Given the description of an element on the screen output the (x, y) to click on. 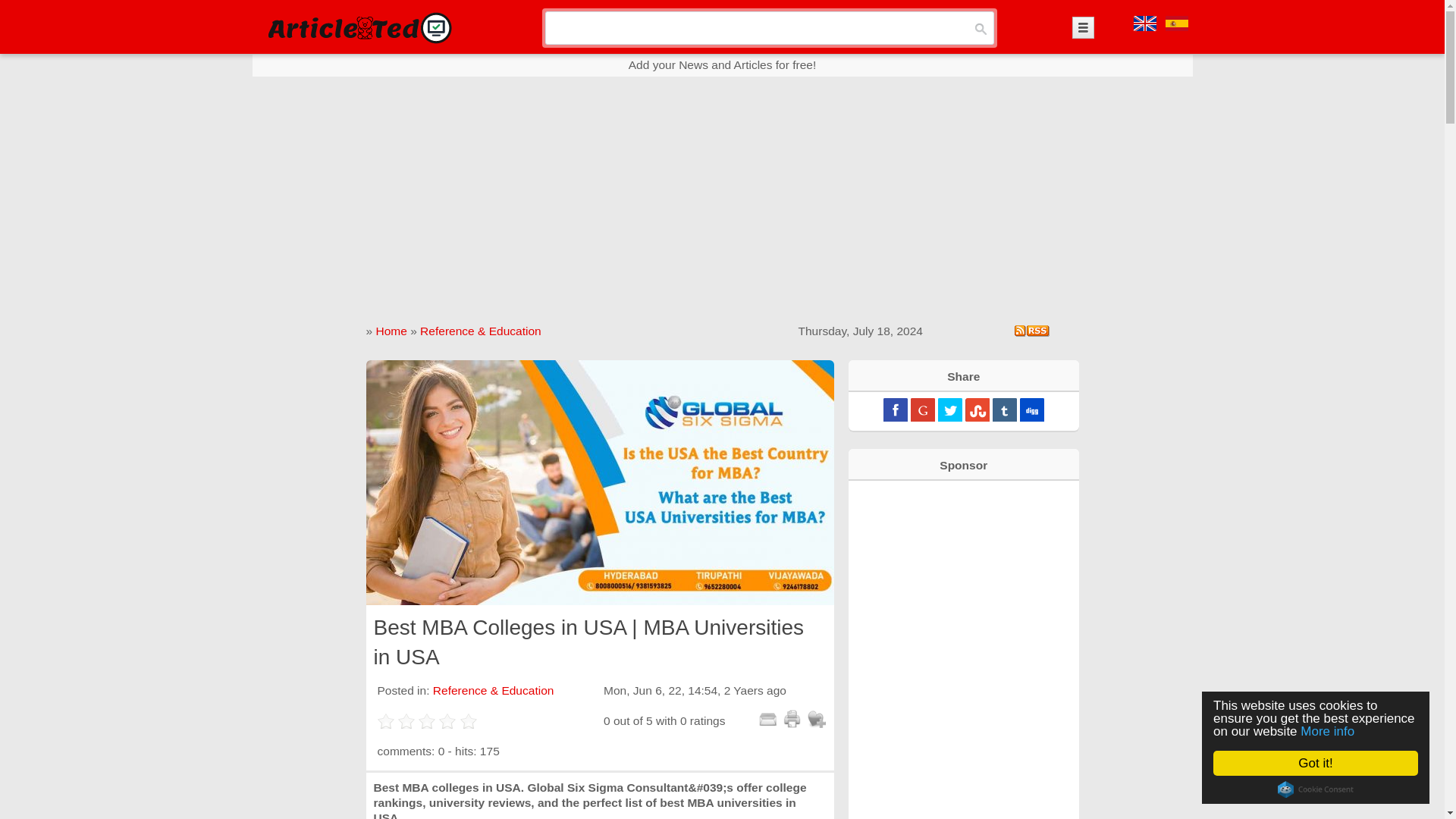
More info (1332, 730)
Cookie Consent plugin for the EU cookie law (1320, 789)
ArticleTed -  News and Articles (357, 27)
Got it! (1321, 763)
Home (390, 330)
